Given the description of an element on the screen output the (x, y) to click on. 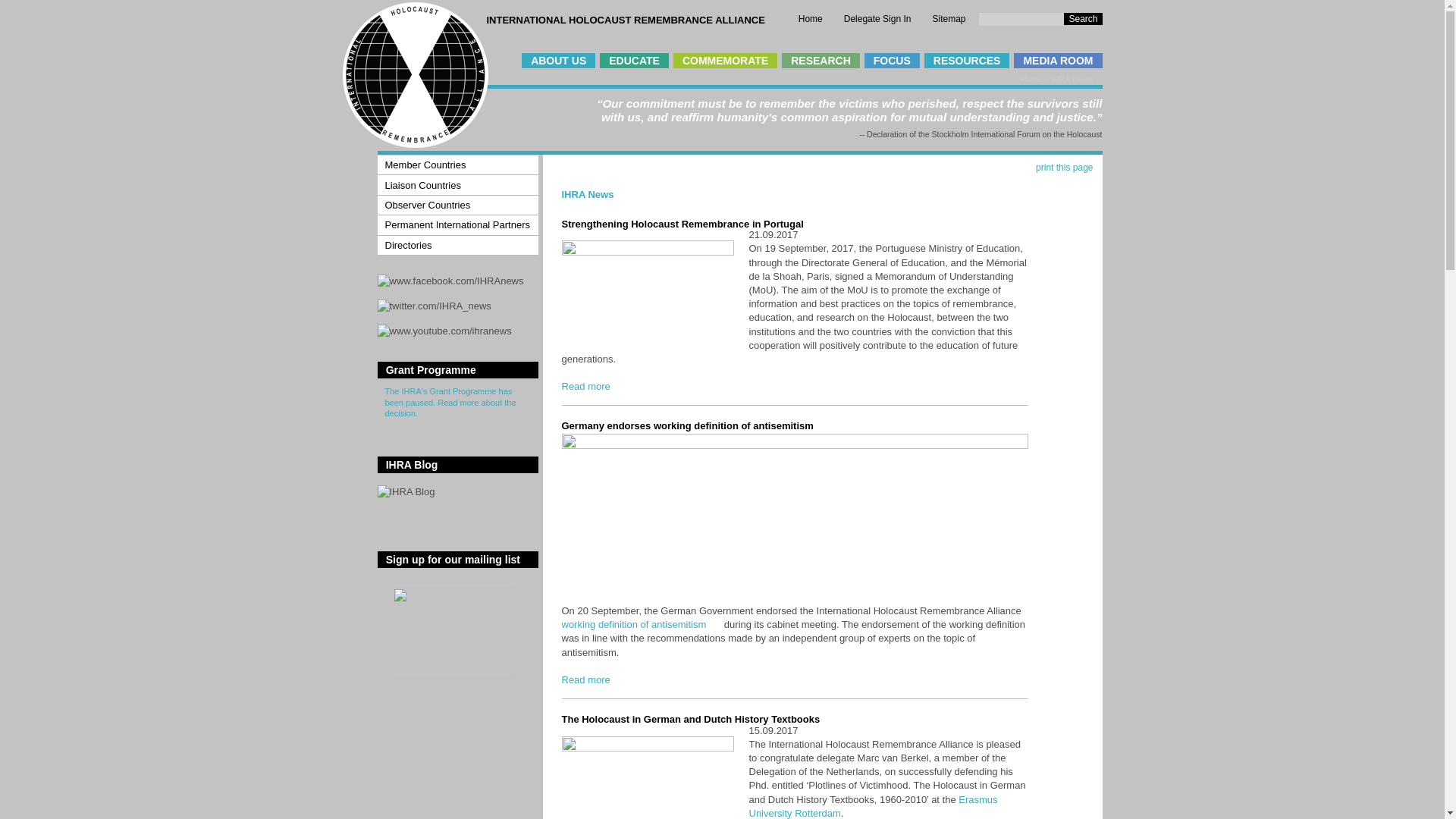
RESOURCES (967, 60)
MEDIA ROOM (1057, 60)
Delegate Sign In (877, 18)
Home (414, 143)
Search (1083, 19)
Home (809, 18)
Commemorate (724, 60)
About (558, 60)
Research (820, 60)
COMMEMORATE (724, 60)
Sitemap (948, 18)
Search (1083, 19)
Educate (633, 60)
Focus (892, 60)
EDUCATE (633, 60)
